Given the description of an element on the screen output the (x, y) to click on. 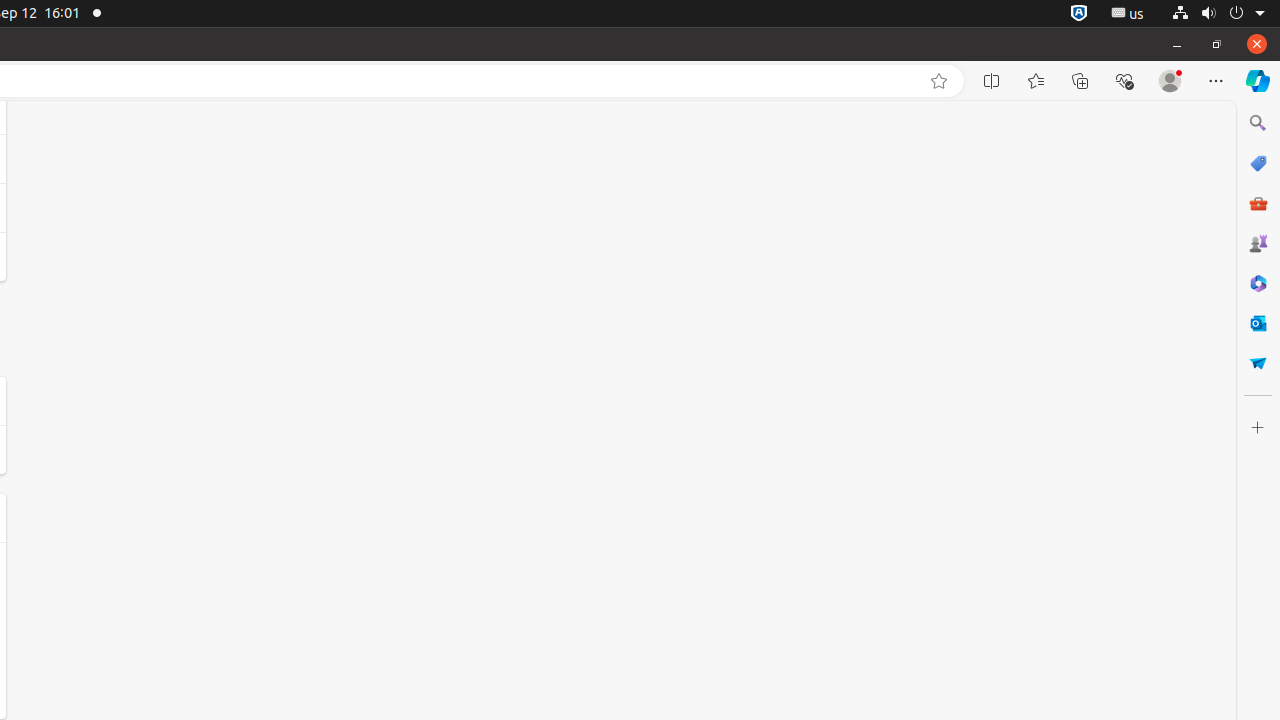
Copilot (Ctrl+Shift+.) Element type: push-button (1258, 81)
Settings and more (Alt+F) Element type: push-button (1216, 81)
Outlook Element type: push-button (1258, 323)
Search Element type: push-button (1258, 123)
Favorites Element type: push-button (1036, 81)
